Given the description of an element on the screen output the (x, y) to click on. 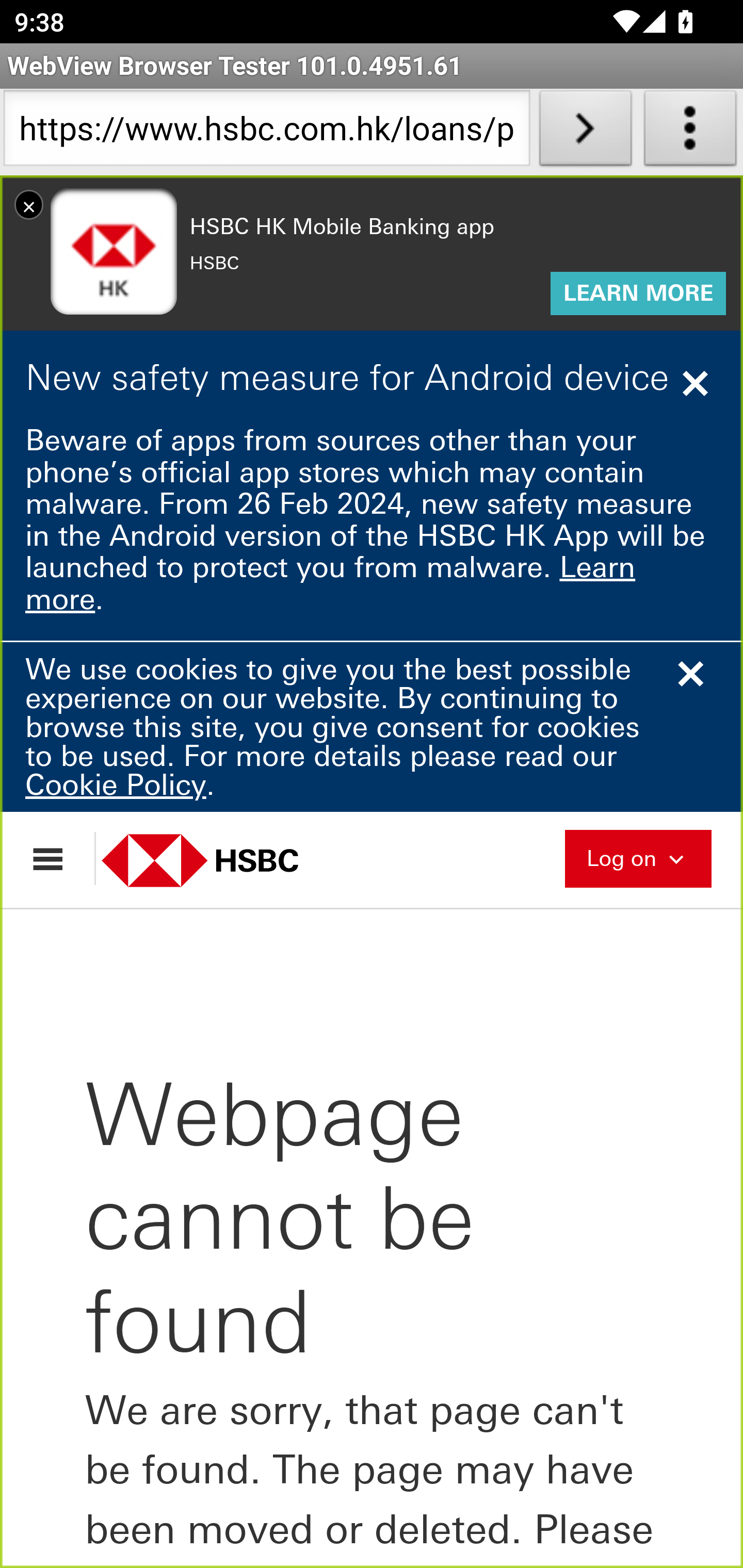
Load URL (585, 132)
About WebView (690, 132)
